Given the description of an element on the screen output the (x, y) to click on. 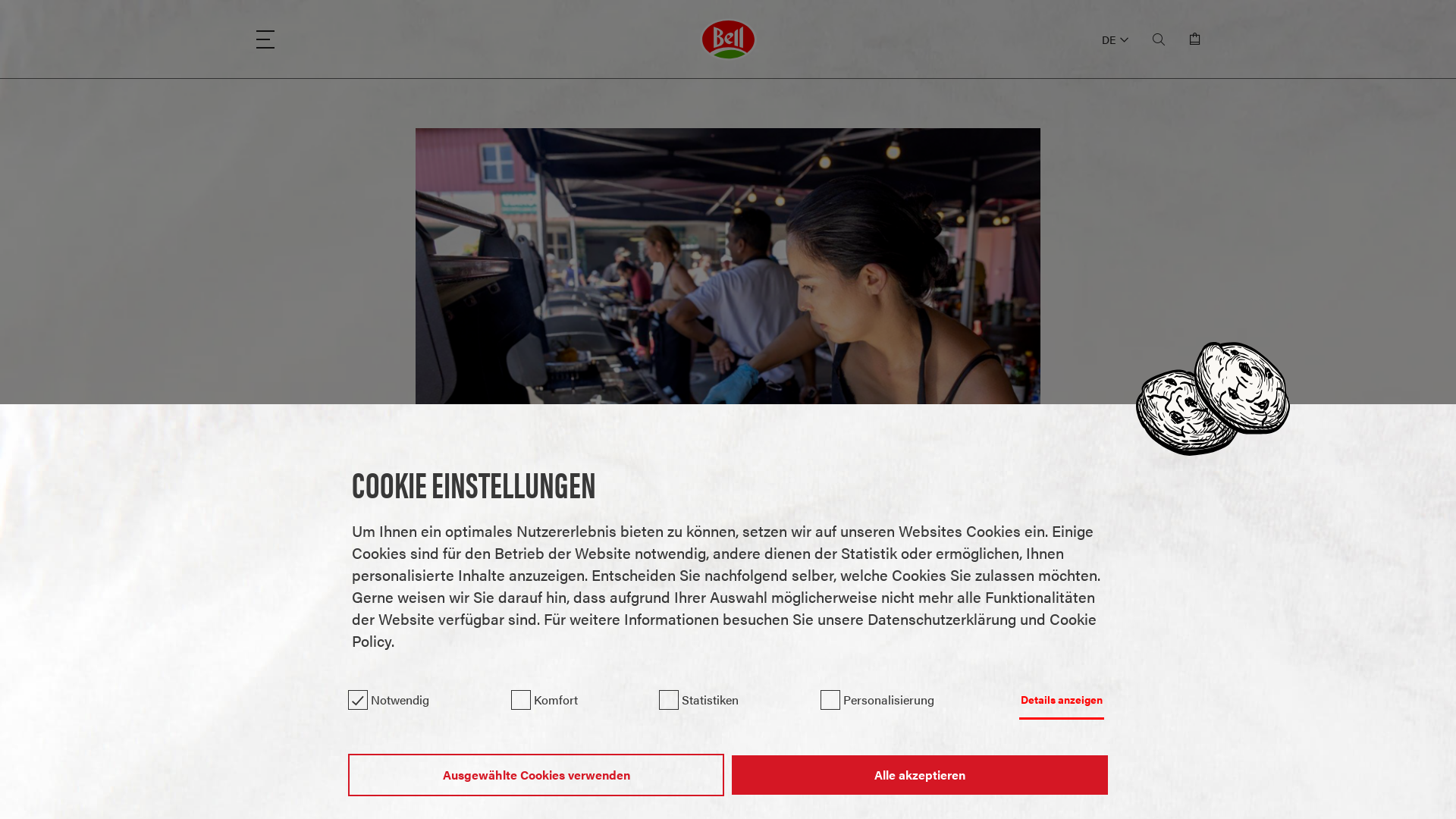
Details anzeigen Element type: text (1061, 700)
DE Element type: text (1114, 39)
Alle akzeptieren Element type: text (919, 774)
